Given the description of an element on the screen output the (x, y) to click on. 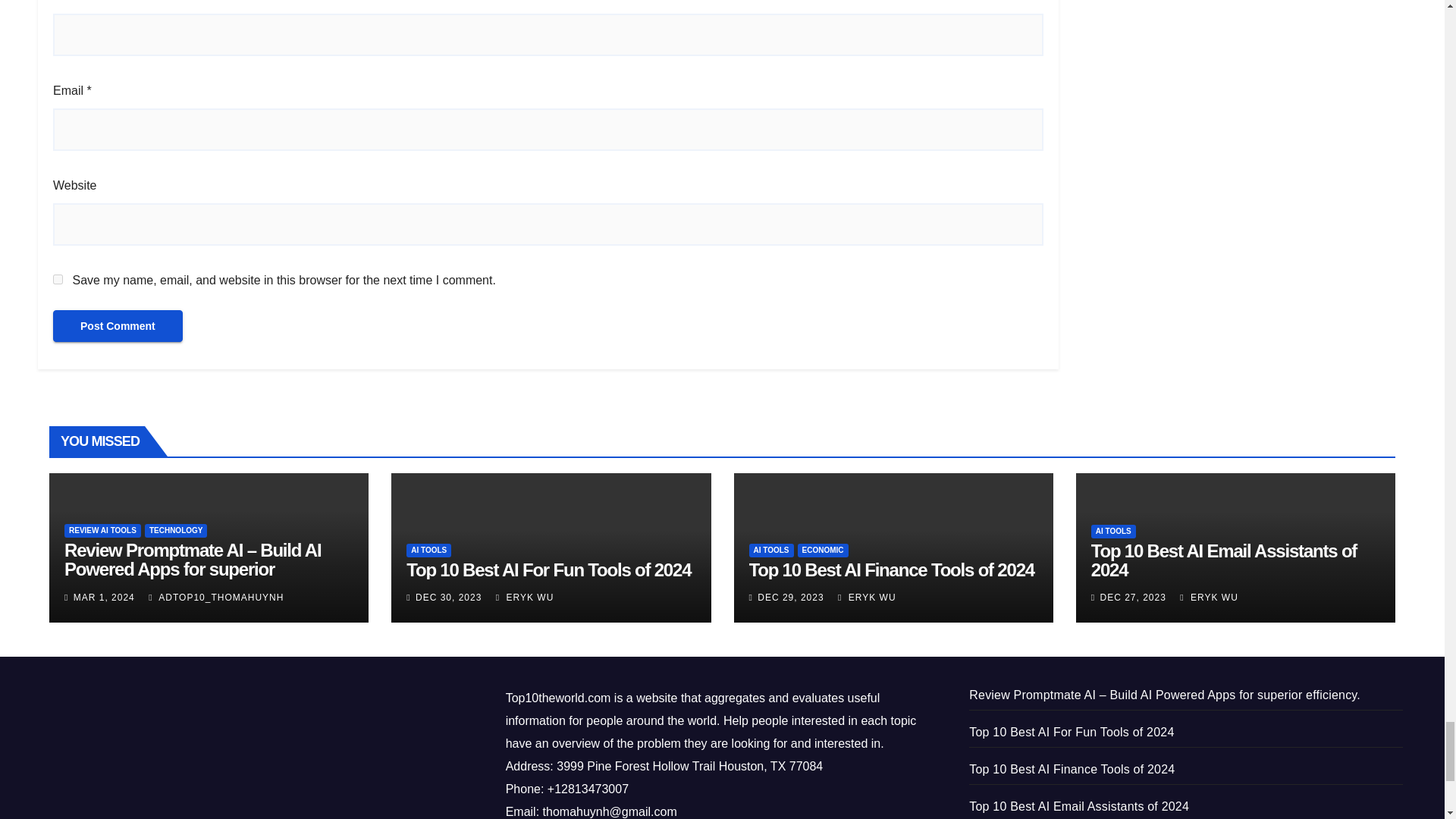
Post Comment (117, 325)
yes (57, 279)
